Given the description of an element on the screen output the (x, y) to click on. 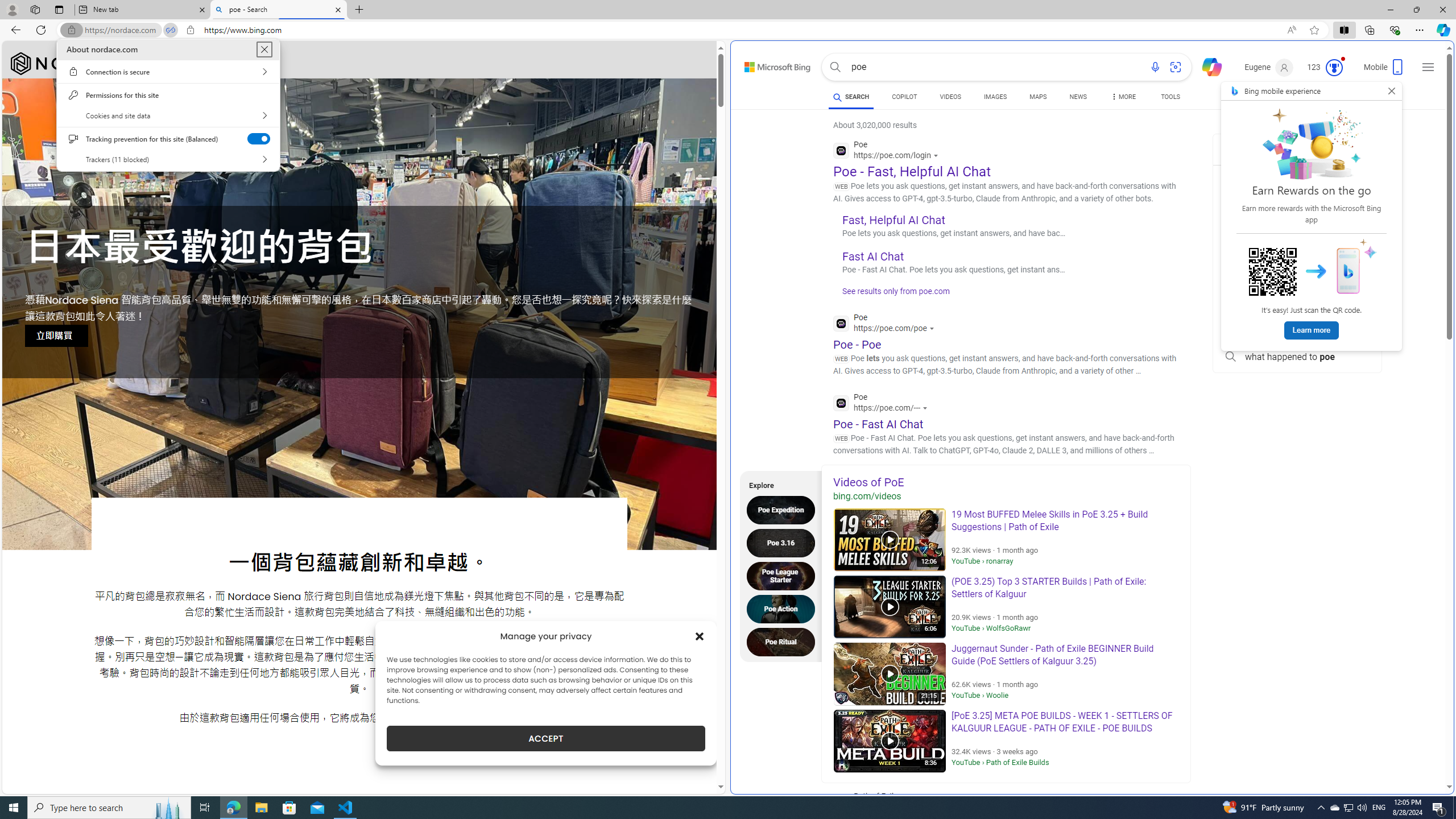
what happened to poe (1297, 356)
poe - Search (277, 9)
Running applications (706, 807)
Search using voice (1154, 66)
VIDEOS (950, 98)
Poe Ritual (783, 641)
Class: cmplz-close (699, 636)
Actions for this site (926, 408)
Fast AI Chat (873, 255)
Settings and quick links (1428, 67)
User Promoted Notification Area (1347, 807)
